Given the description of an element on the screen output the (x, y) to click on. 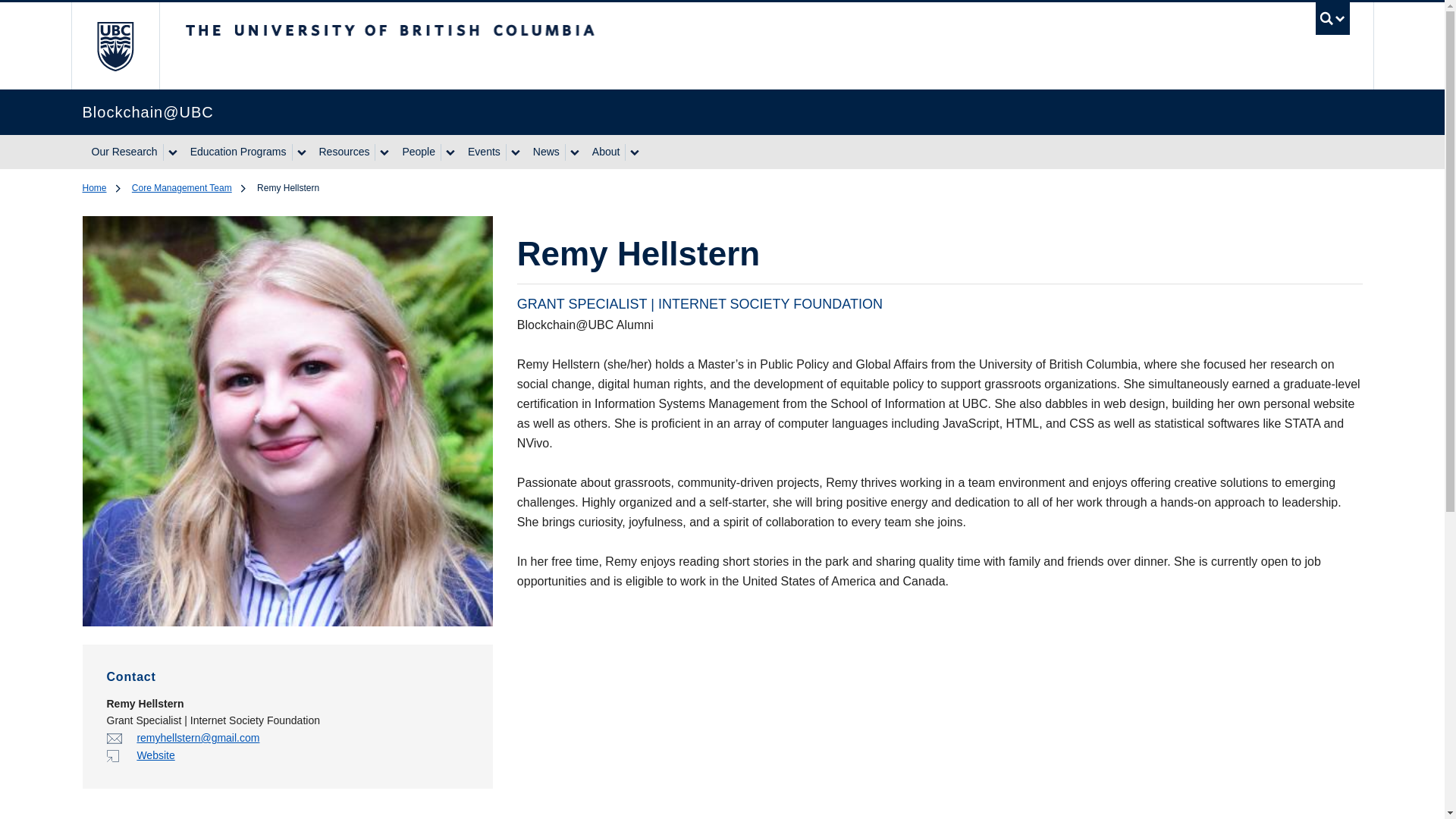
People (417, 151)
Events (481, 151)
The University of British Columbia (517, 37)
Our Research (121, 151)
Education Programs (236, 151)
The University of British Columbia (114, 45)
Resources (341, 151)
UBC Search (1331, 21)
